Given the description of an element on the screen output the (x, y) to click on. 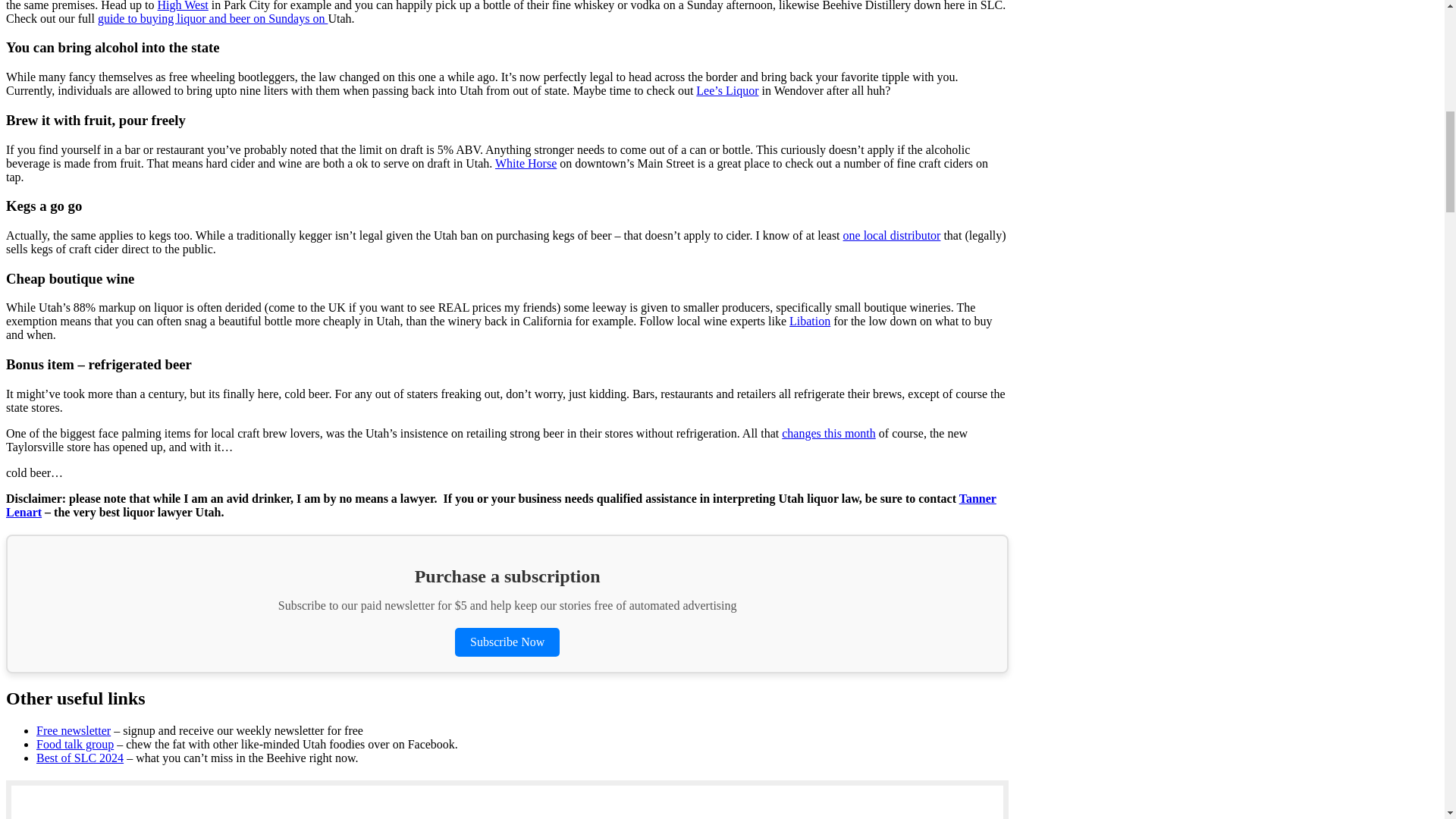
Subscribe Now (506, 642)
Libation (809, 320)
Stuart Melling (198, 818)
White Horse (525, 163)
changes this month (828, 432)
Free newsletter (73, 730)
guide to buying liquor and beer on Sundays on (213, 18)
one local distributor (891, 235)
Best of SLC 2024 (79, 757)
High West (182, 5)
